Given the description of an element on the screen output the (x, y) to click on. 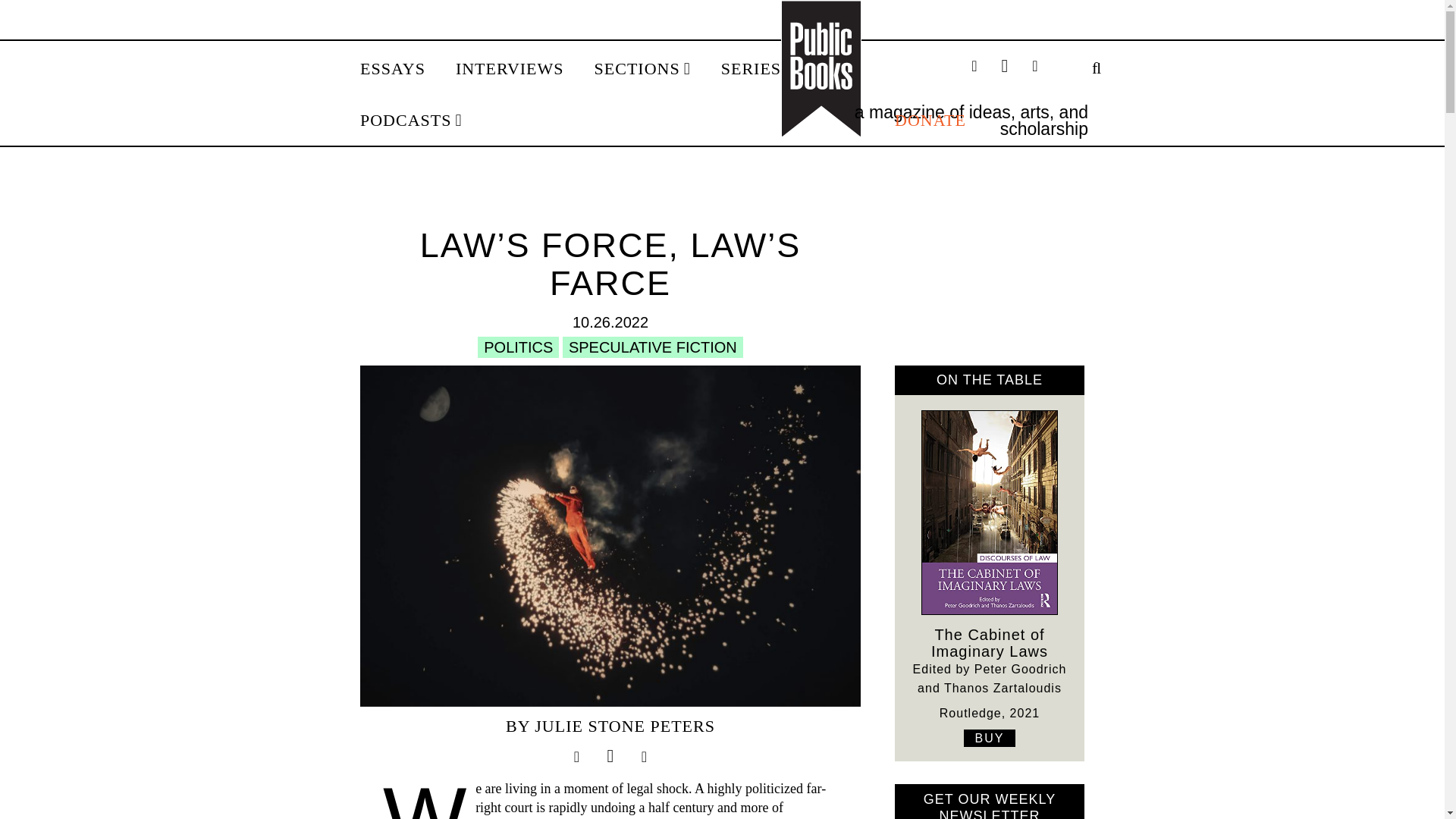
ESSAYS (392, 69)
SERIES (756, 69)
a magazine of ideas, arts, and scholarship (970, 120)
SECTIONS (642, 69)
INTERVIEWS (509, 69)
